Given the description of an element on the screen output the (x, y) to click on. 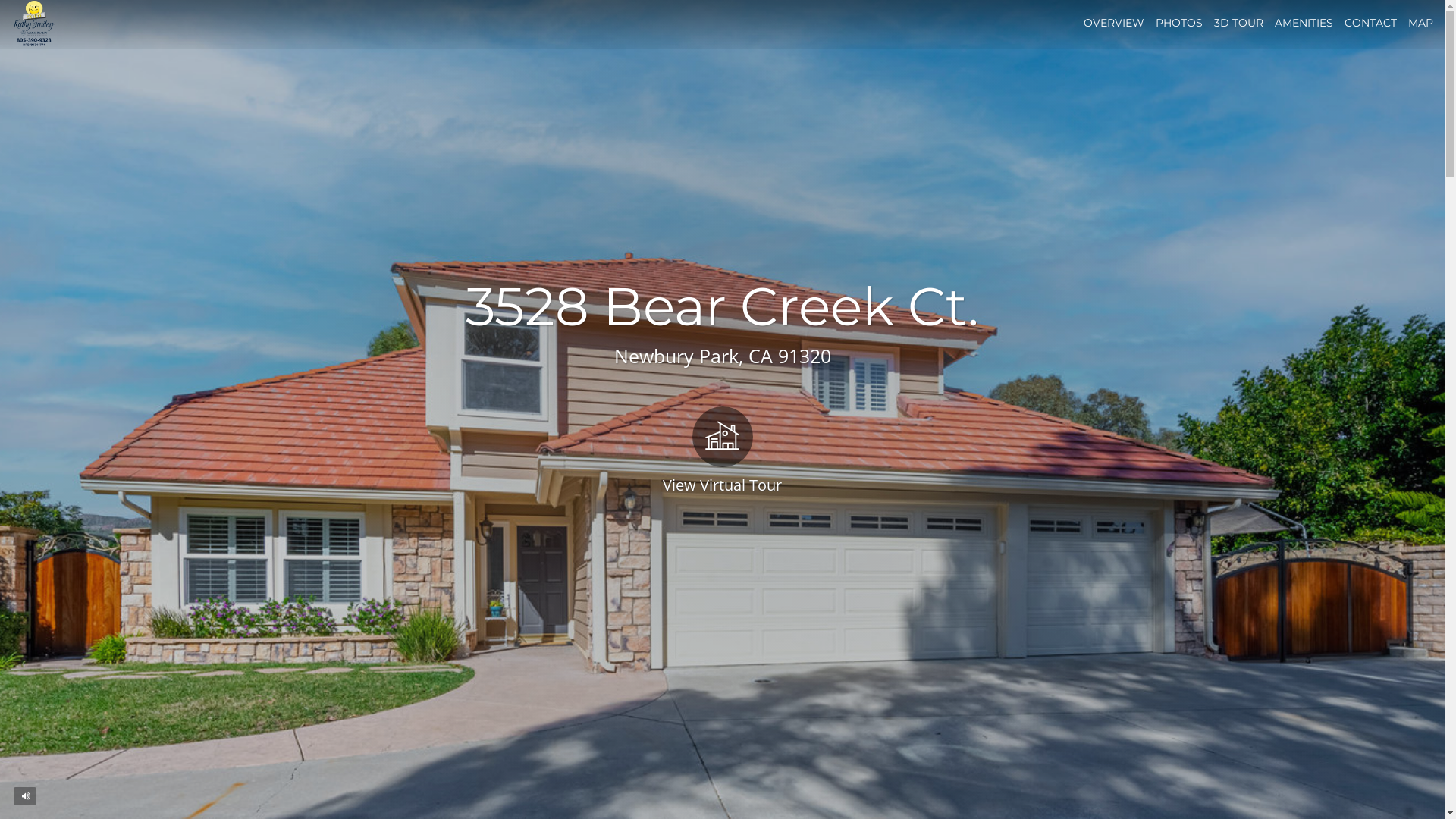
OVERVIEW Element type: text (1113, 22)
AMENITIES Element type: text (1303, 22)
View Virtual Tour Element type: text (722, 448)
PHOTOS Element type: text (1178, 22)
3D TOUR Element type: text (1238, 22)
CONTACT Element type: text (1370, 22)
MAP Element type: text (1420, 22)
